Given the description of an element on the screen output the (x, y) to click on. 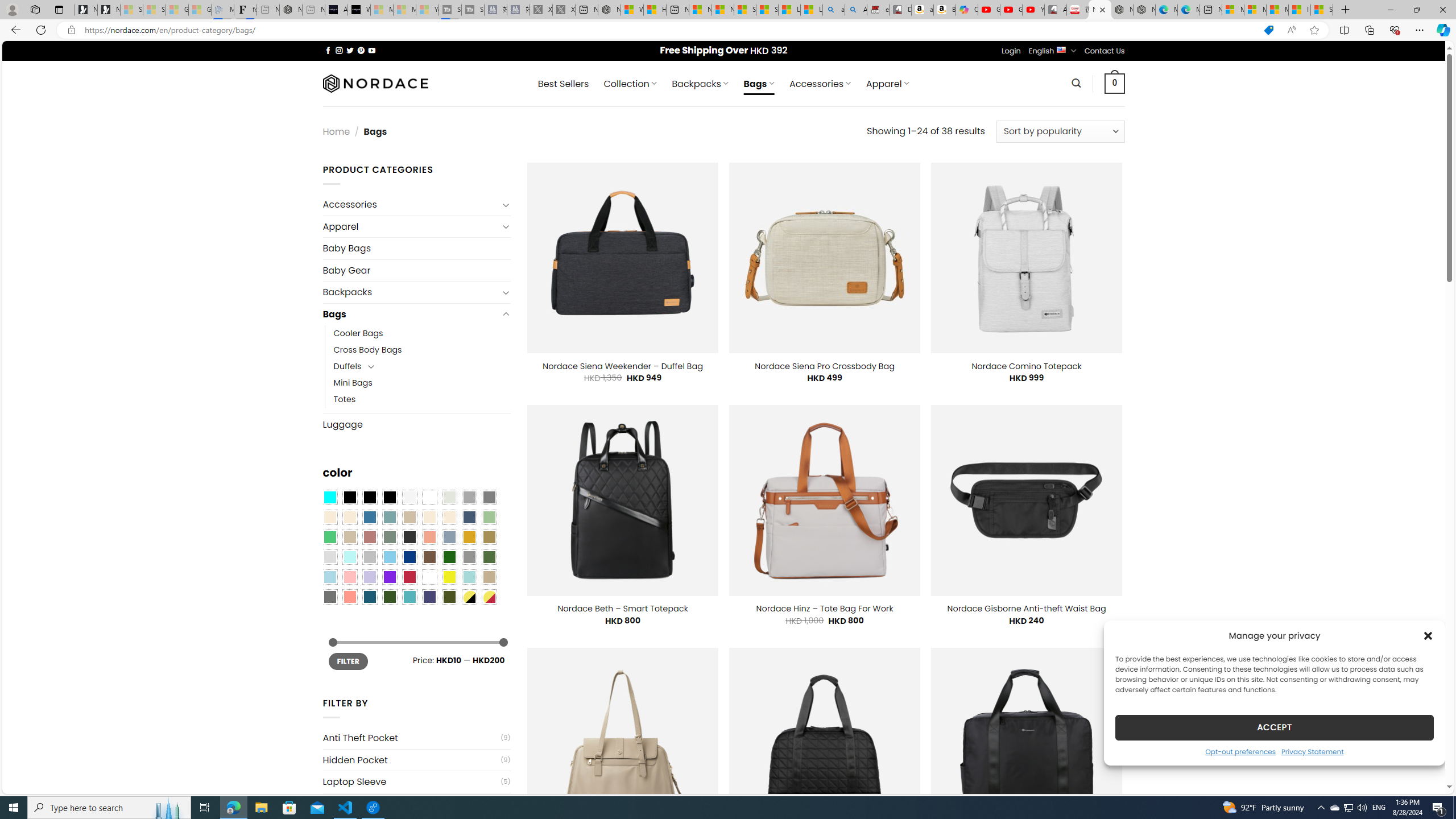
Beige (329, 517)
Cross Body Bags (367, 349)
Nordace - Bags (1099, 9)
Accessories (410, 204)
English (1061, 49)
Split screen (1344, 29)
Follow on Pinterest (360, 49)
Coral (429, 536)
Address and search bar (669, 29)
YouTube Kids - An App Created for Kids to Explore Content (1033, 9)
Light Green (488, 517)
Gold (468, 536)
